Given the description of an element on the screen output the (x, y) to click on. 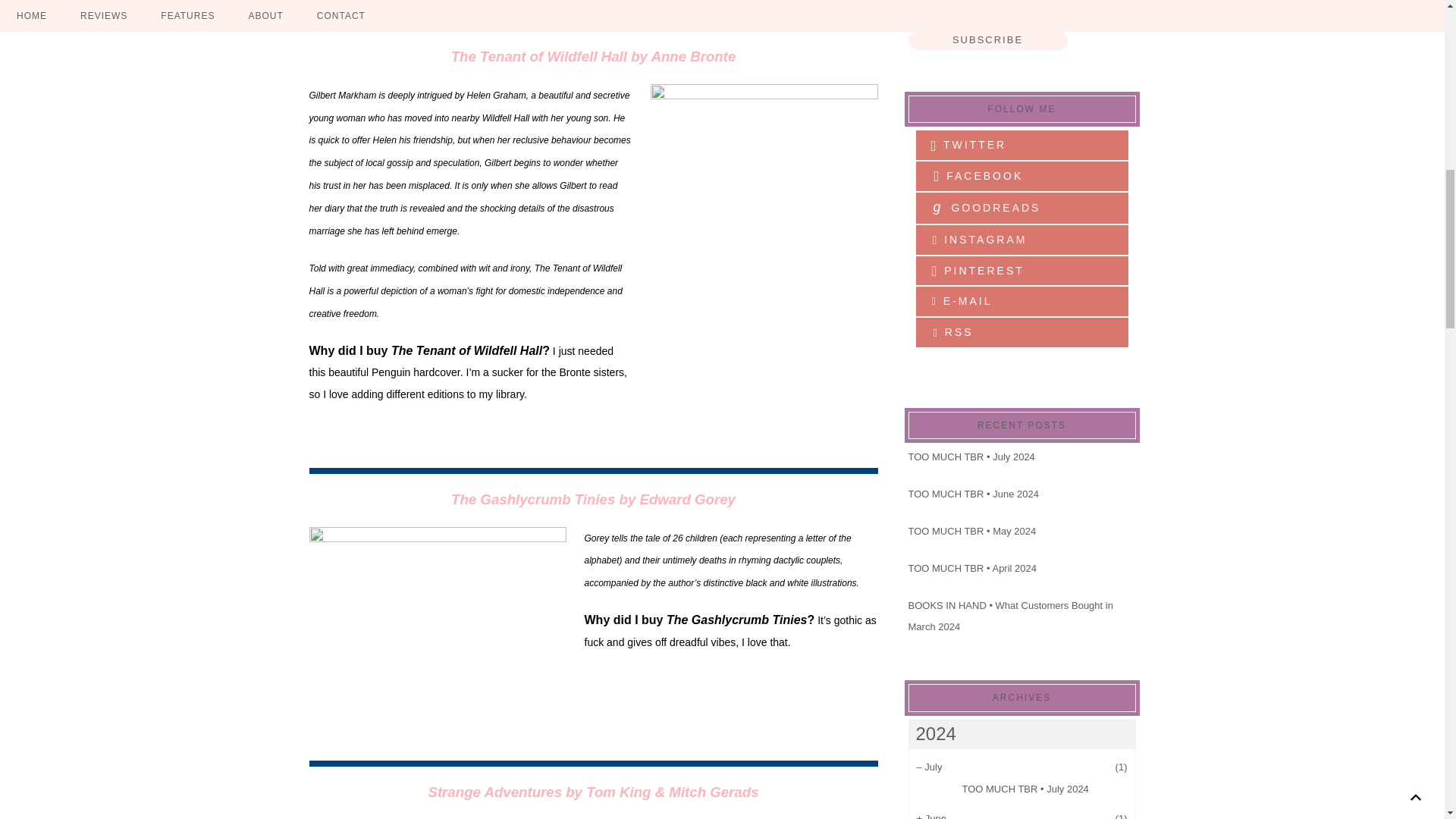
The Gashlycrumb Tinies by Edward Gorey (593, 500)
The Tenant of Wildfell Hall by Anne Bronte (593, 56)
